Given the description of an element on the screen output the (x, y) to click on. 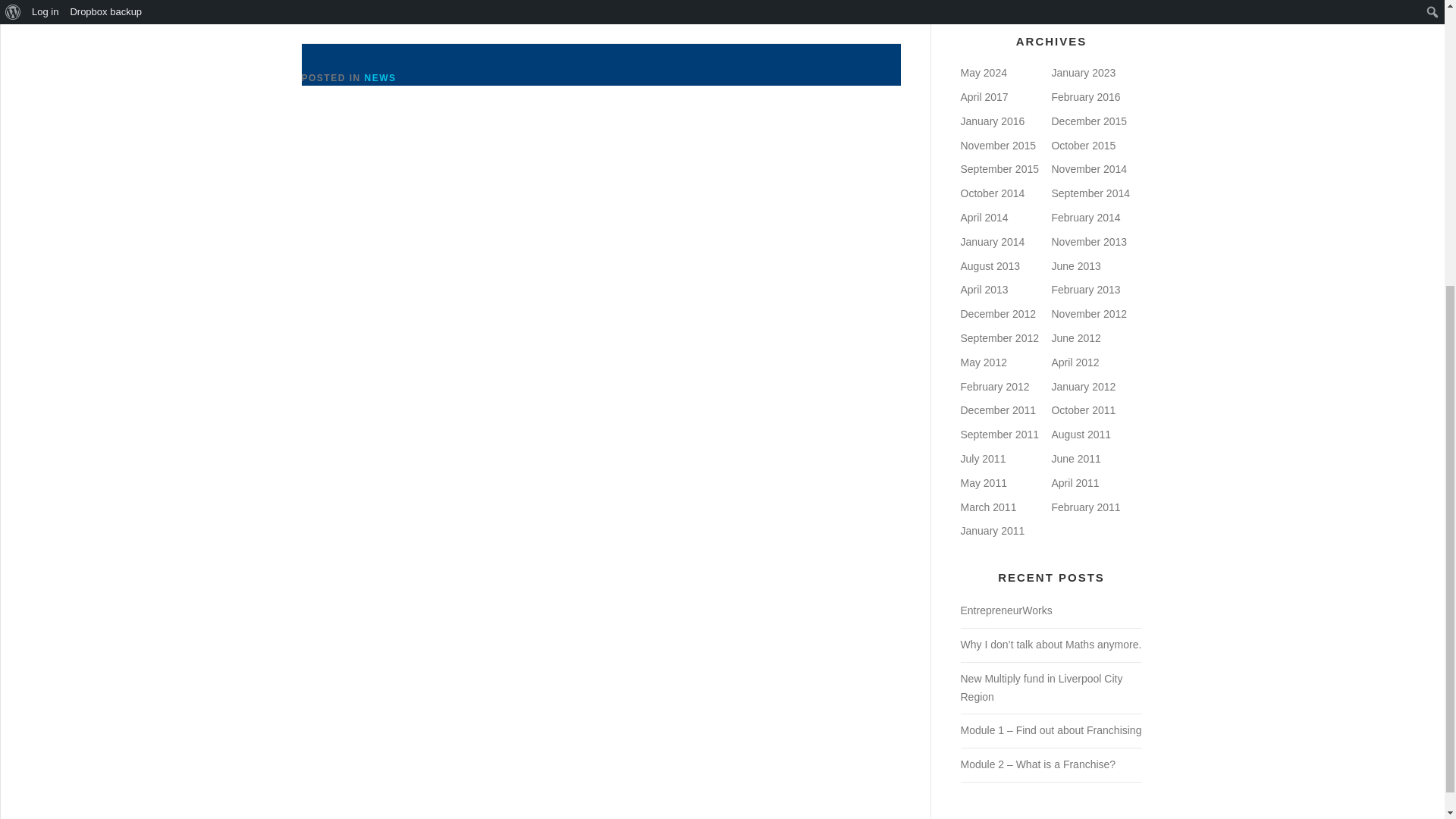
NEWS (380, 77)
January 2023 (1083, 72)
May 2024 (982, 72)
